Given the description of an element on the screen output the (x, y) to click on. 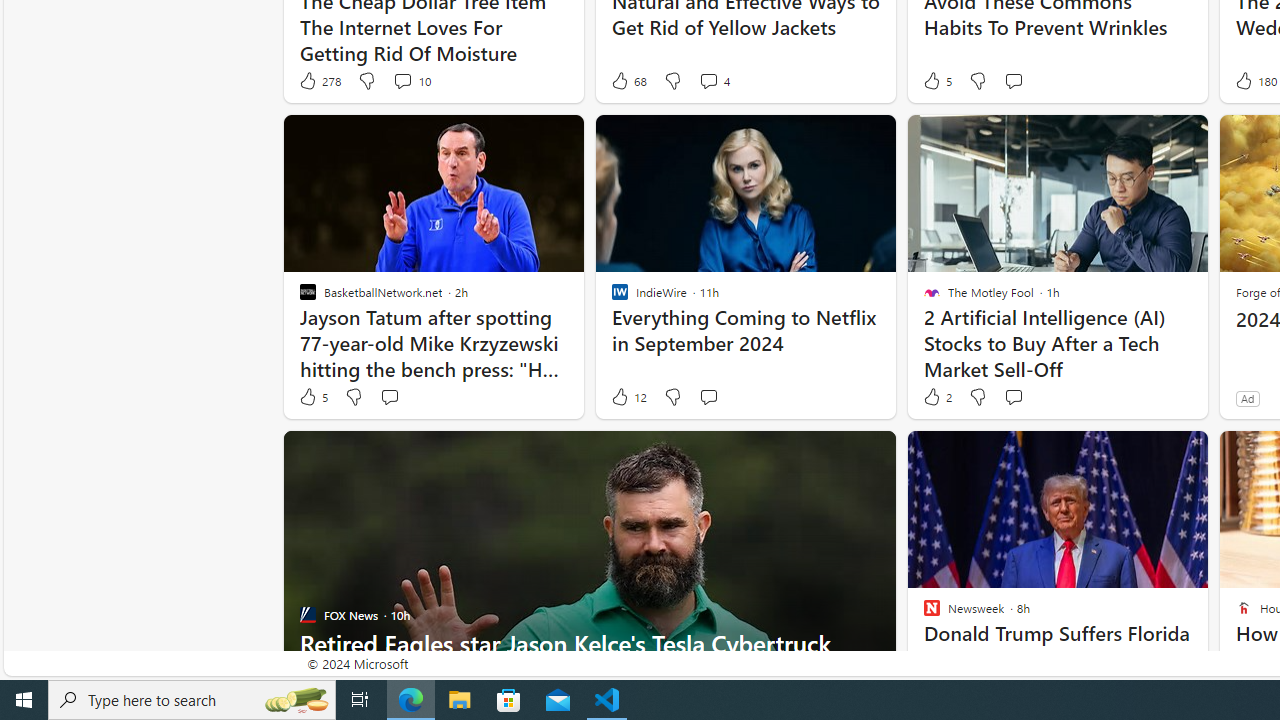
278 Like (319, 80)
